Given the description of an element on the screen output the (x, y) to click on. 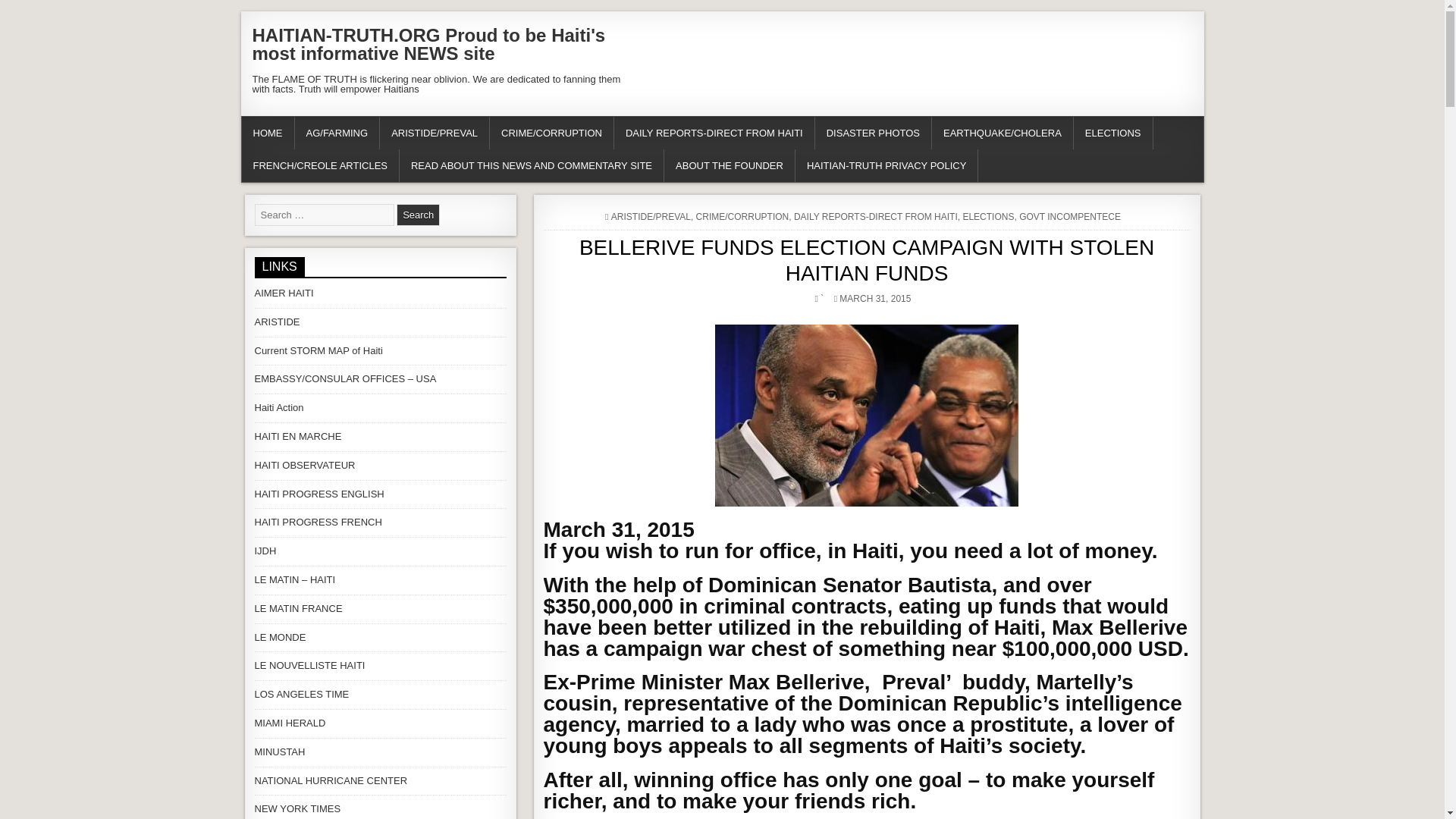
DAILY REPORTS-DIRECT FROM HAITI (875, 216)
News site (279, 407)
ELECTIONS (1113, 133)
Search (417, 214)
Preval and bellerieve (865, 415)
HOME (267, 133)
AIMER HAITI (284, 292)
ELECTIONS (987, 216)
READ ABOUT THIS NEWS AND COMMENTARY SITE (530, 165)
GOVT INCOMPENTECE (1070, 216)
ARISTIDE (276, 321)
DAILY REPORTS-DIRECT FROM HAITI (714, 133)
DISASTER PHOTOS (873, 133)
HAITIAN-TRUTH PRIVACY POLICY (886, 165)
